Given the description of an element on the screen output the (x, y) to click on. 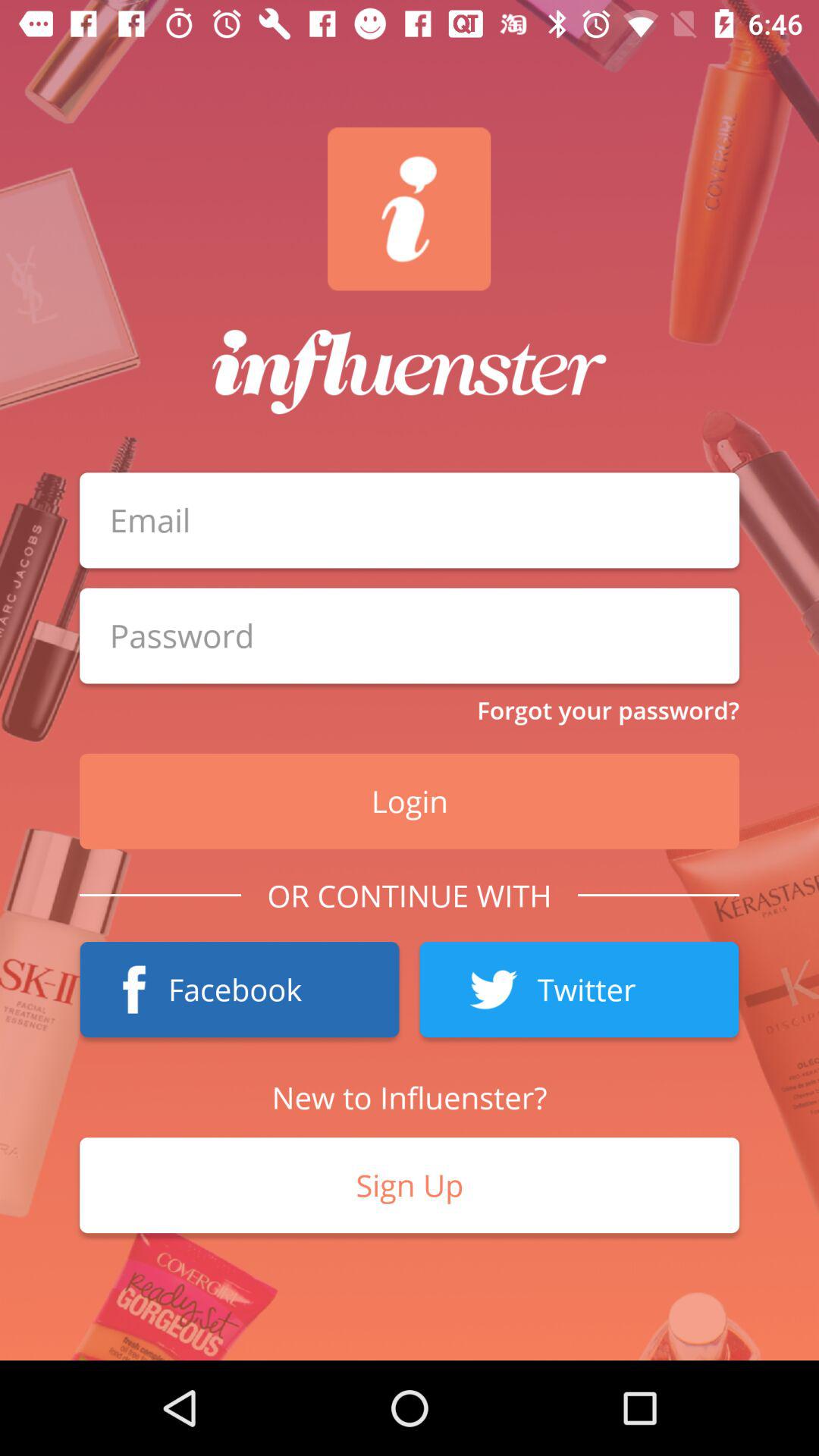
email address page (409, 635)
